Given the description of an element on the screen output the (x, y) to click on. 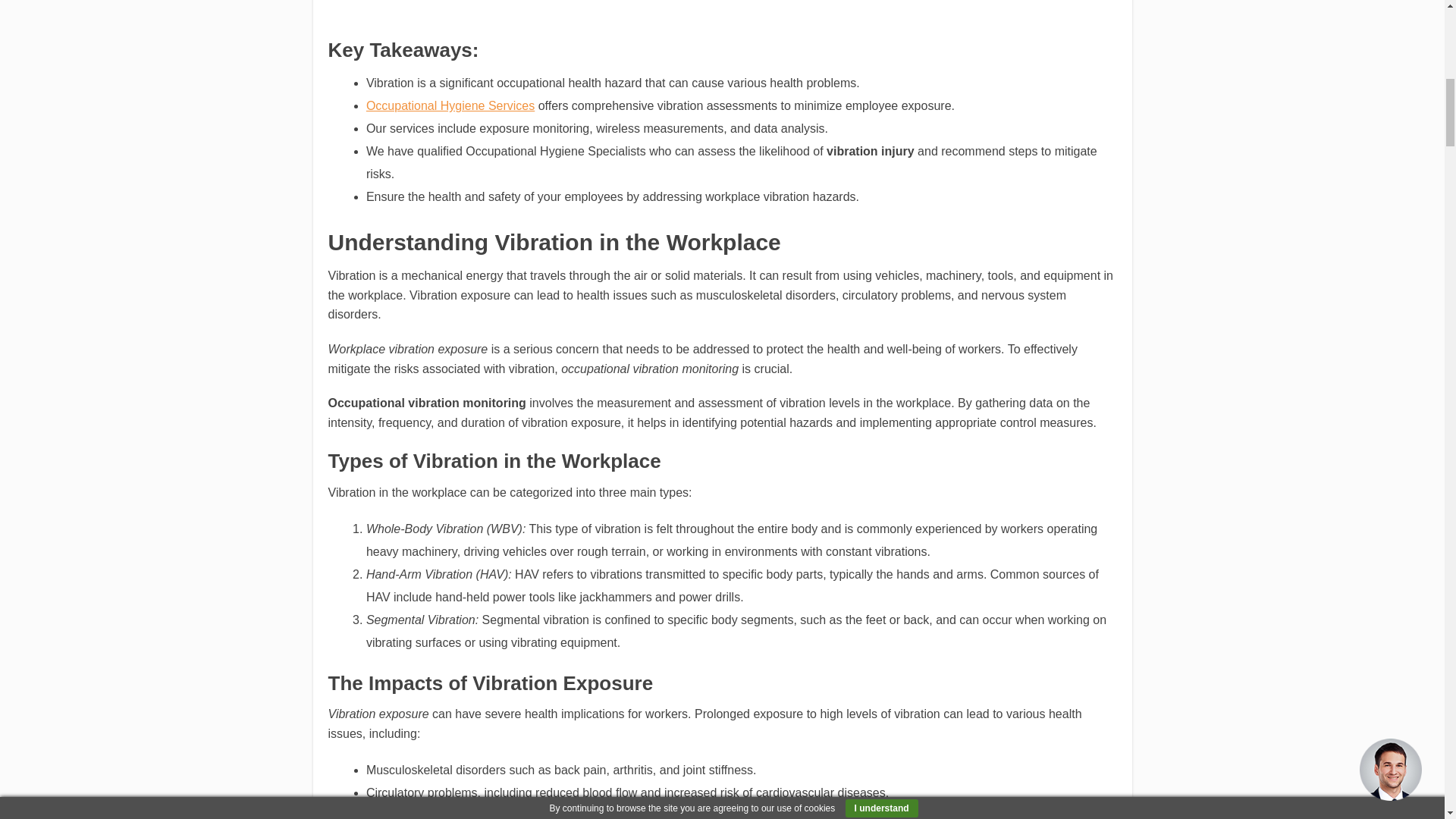
Occupational Hygiene Services (450, 105)
